Given the description of an element on the screen output the (x, y) to click on. 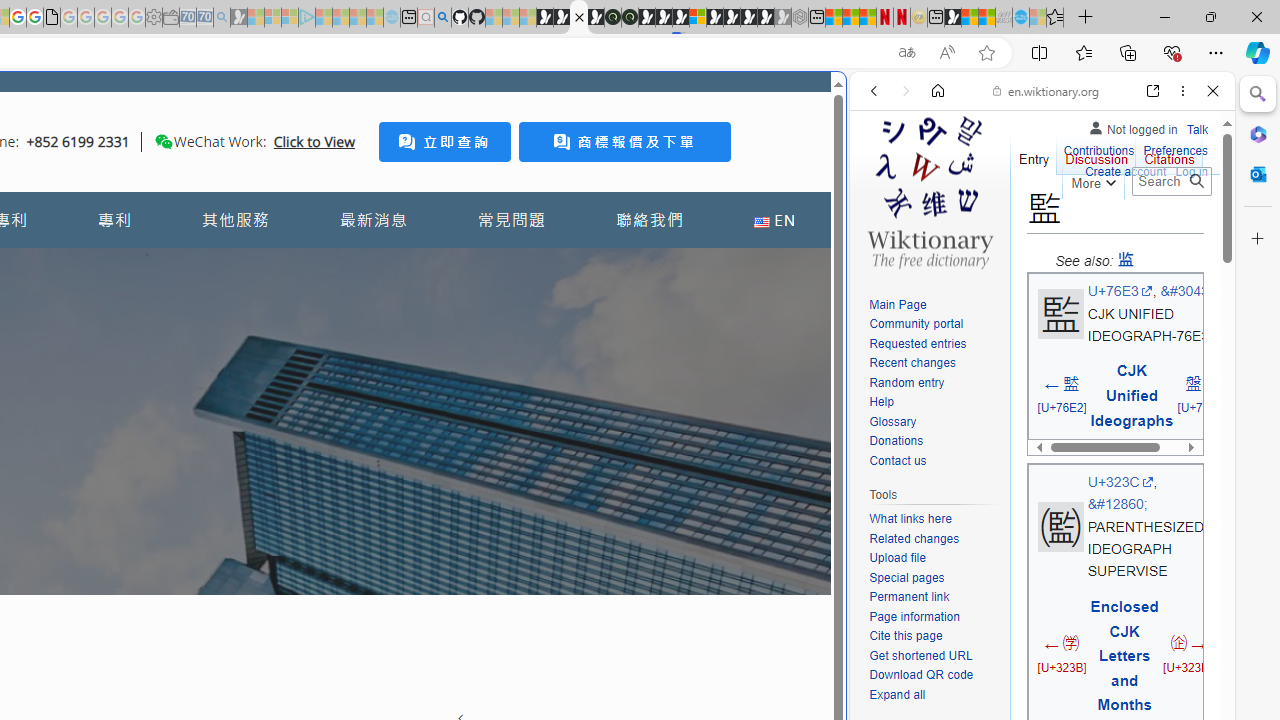
Tabs you've opened (276, 265)
Donations (934, 442)
